Given the description of an element on the screen output the (x, y) to click on. 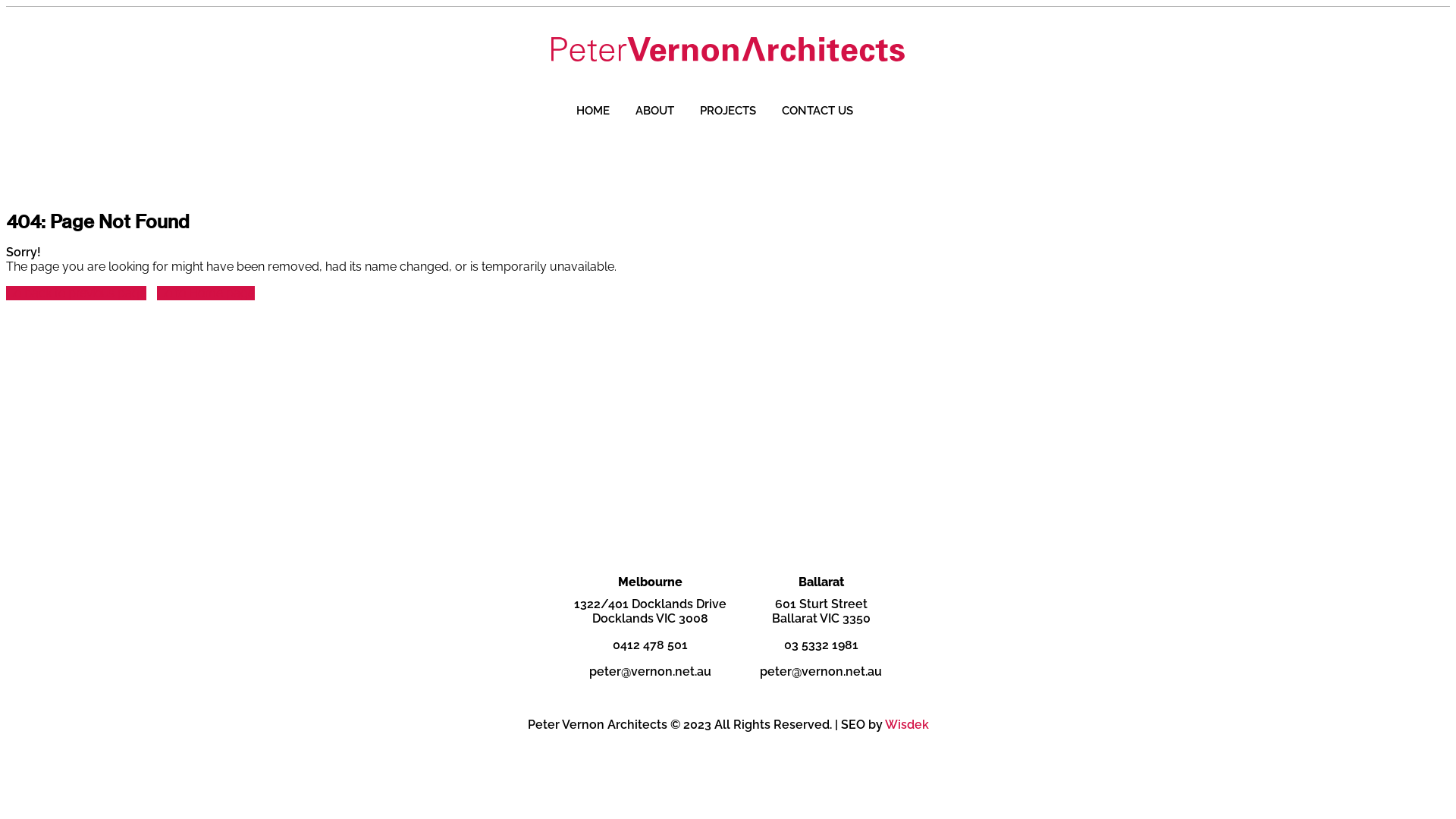
Go back to previous page Element type: text (76, 292)
03 5332 1981 Element type: text (821, 644)
CONTACT US Element type: text (817, 110)
1322/401 Docklands Drive
Docklands VIC 3008 Element type: text (650, 610)
peter@vernon.net.au Element type: text (650, 671)
Wisdek Element type: text (906, 724)
peter@vernon.net.au Element type: text (820, 671)
PROJECTS Element type: text (727, 110)
ABOUT Element type: text (654, 110)
Go to Home page Element type: text (205, 292)
0412 478 501 Element type: text (649, 644)
601 Sturt Street
Ballarat VIC 3350 Element type: text (820, 610)
HOME Element type: text (592, 110)
